Given the description of an element on the screen output the (x, y) to click on. 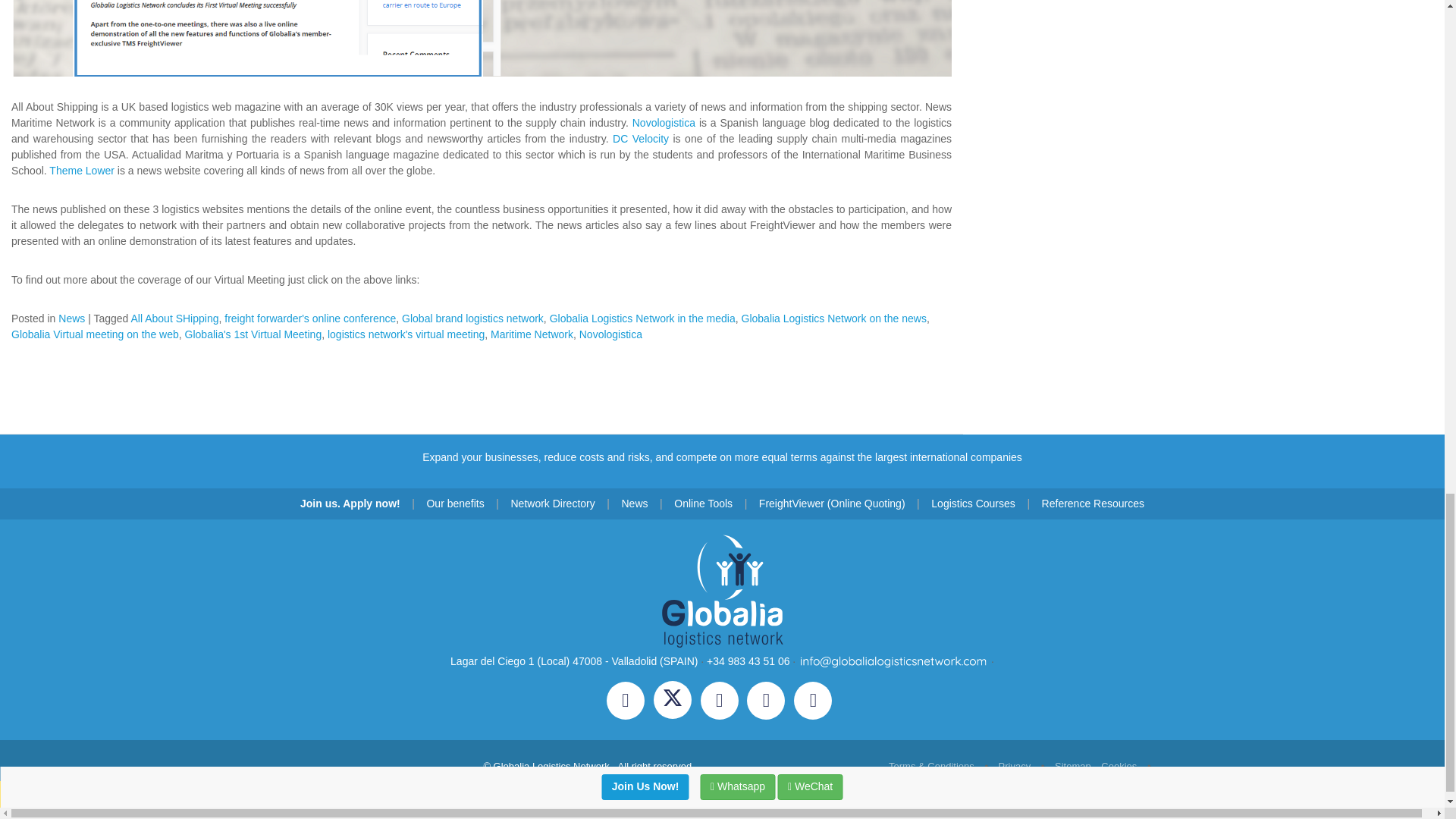
Facebook (630, 702)
logistics network's virtual meeting (405, 334)
News (71, 318)
Novologistica (663, 122)
DC Velocity (640, 138)
Globalia's 1st Virtual Meeting (252, 334)
Twitter (676, 702)
Linkedin (769, 702)
Instagram (724, 702)
Global brand logistics network (472, 318)
